Given the description of an element on the screen output the (x, y) to click on. 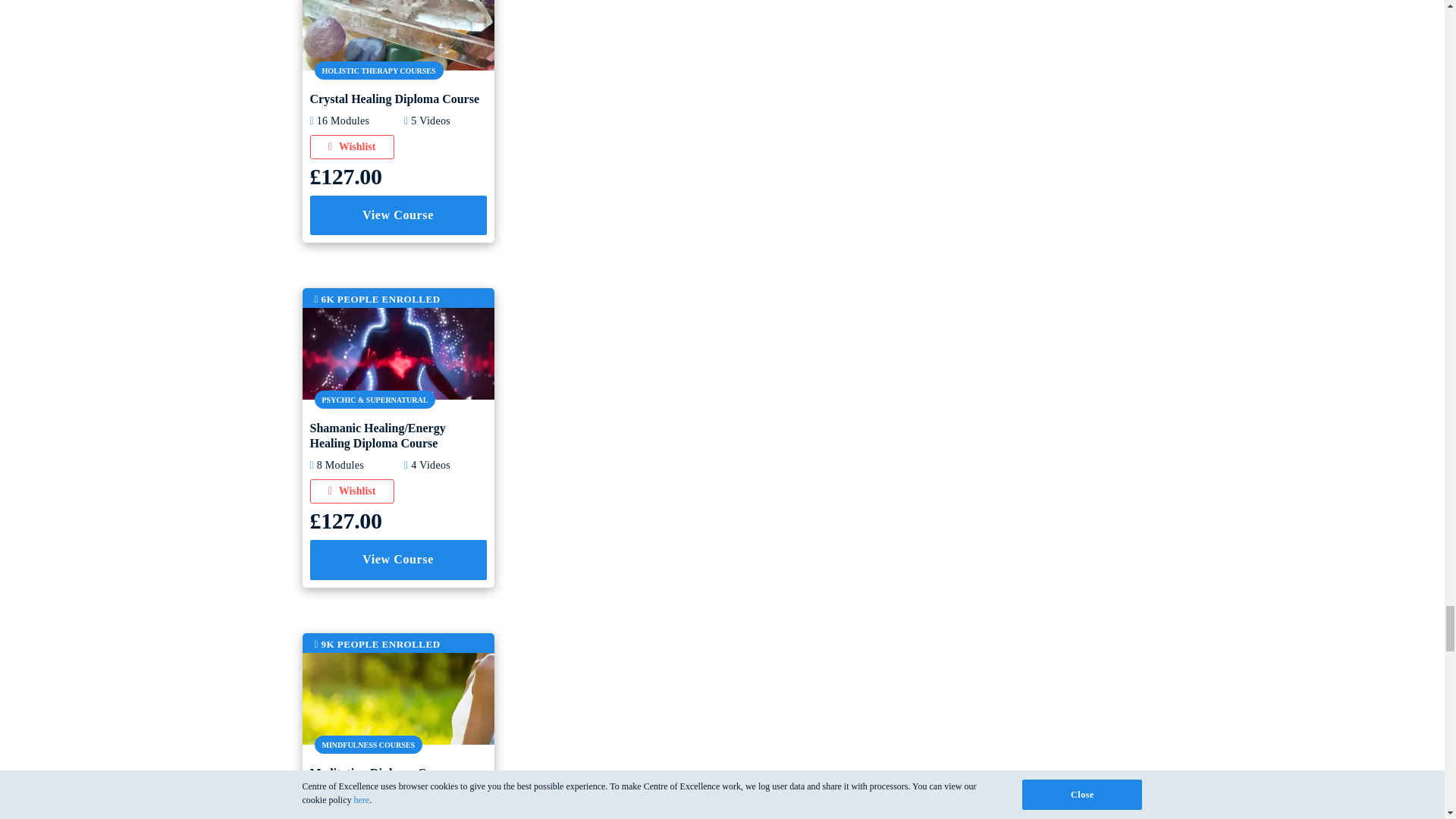
Crystal Healing Diploma Course (397, 22)
Meditation Diploma Course (397, 697)
